Given the description of an element on the screen output the (x, y) to click on. 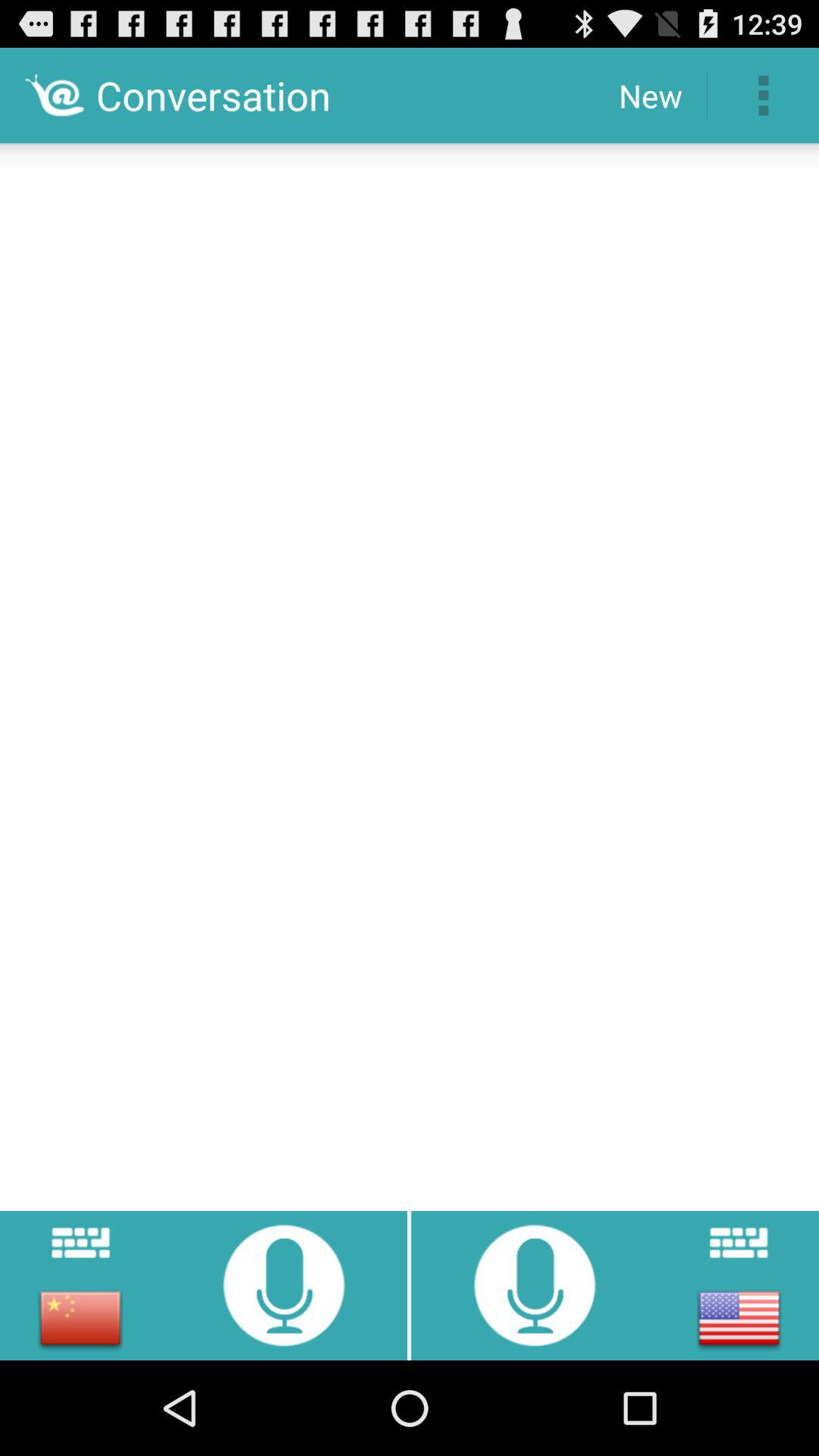
its a box for changing the language of the keyboard (80, 1317)
